Given the description of an element on the screen output the (x, y) to click on. 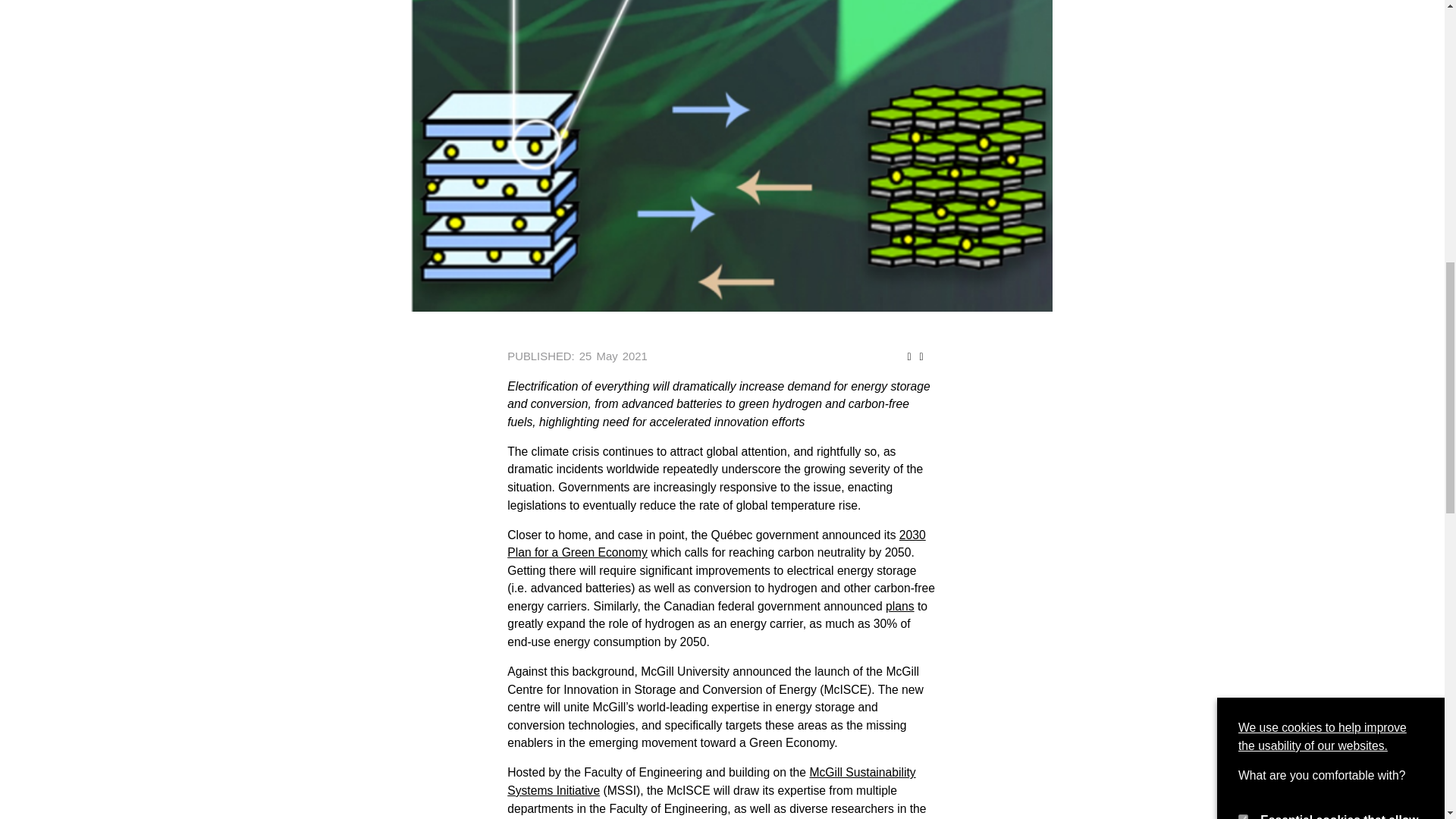
Only selected (1362, 176)
McGill Sustainability Systems Initiative (710, 780)
plans (899, 605)
Accept all (1271, 176)
performance (1243, 50)
marketing (1243, 102)
2030 Plan for a Green Economy (716, 543)
required (1243, 2)
